Given the description of an element on the screen output the (x, y) to click on. 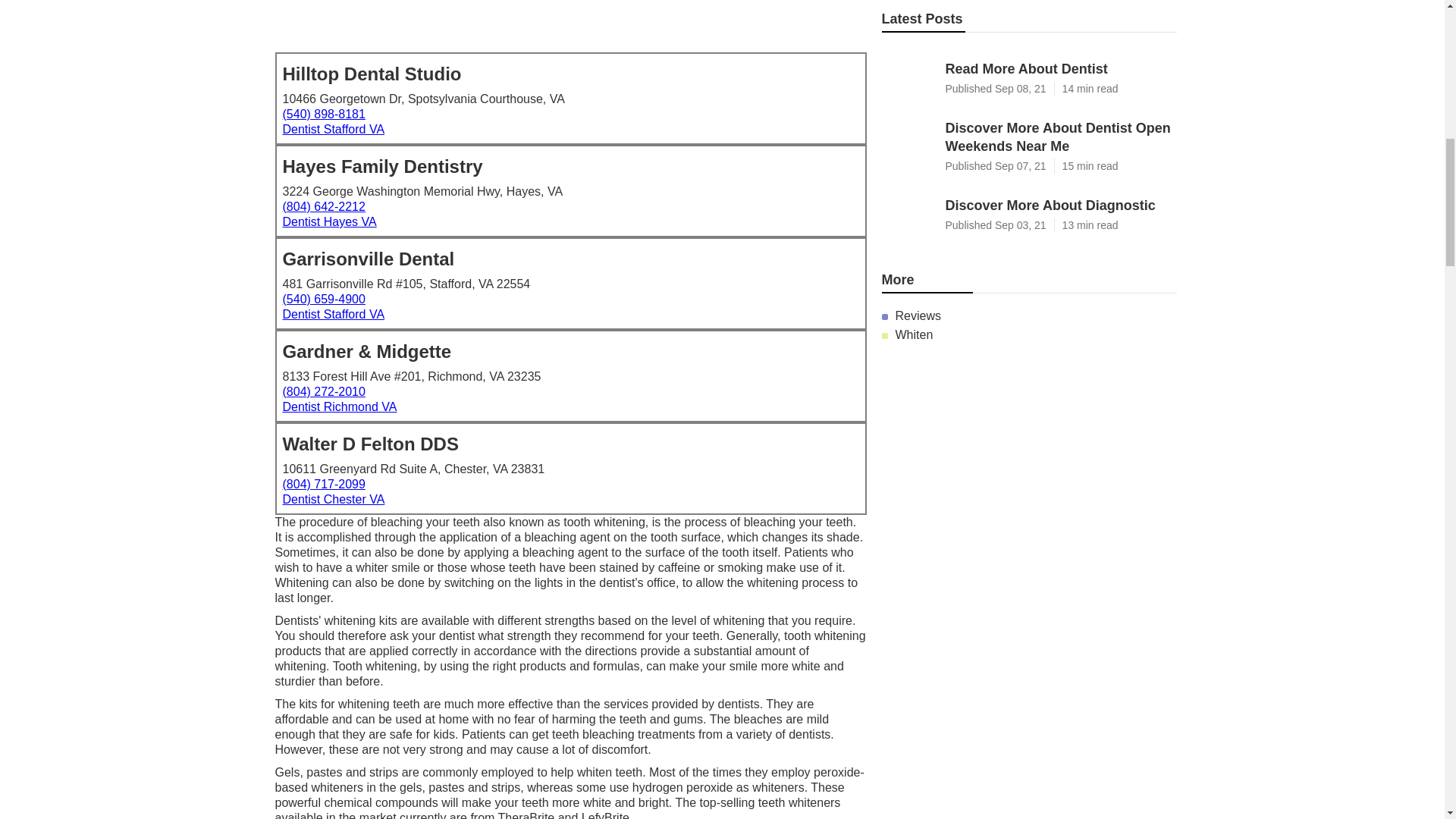
Dentist Stafford VA (333, 314)
Dentist Stafford VA (333, 128)
Dentist Hayes VA (328, 221)
